Given the description of an element on the screen output the (x, y) to click on. 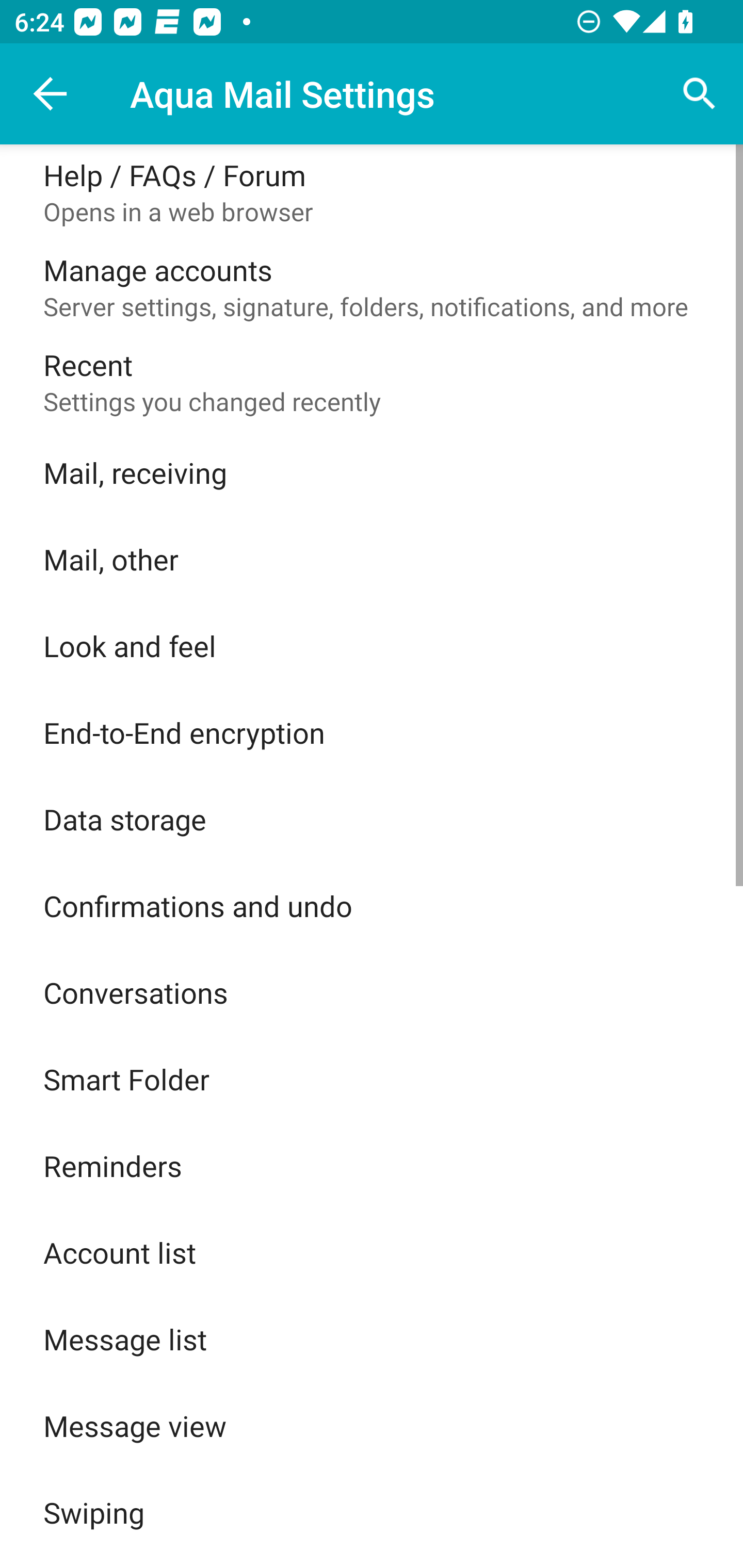
Navigate up (50, 93)
Search (699, 93)
Help / FAQs / Forum Opens in a web browser (371, 191)
Recent Settings you changed recently (371, 381)
Mail, receiving (371, 472)
Mail, other (371, 558)
Look and feel (371, 645)
End-to-End encryption (371, 732)
Data storage (371, 819)
Confirmations and undo (371, 905)
Conversations (371, 992)
Smart Folder (371, 1079)
Reminders (371, 1165)
Account list (371, 1251)
Message list (371, 1338)
Message view (371, 1425)
Swiping (371, 1512)
